Given the description of an element on the screen output the (x, y) to click on. 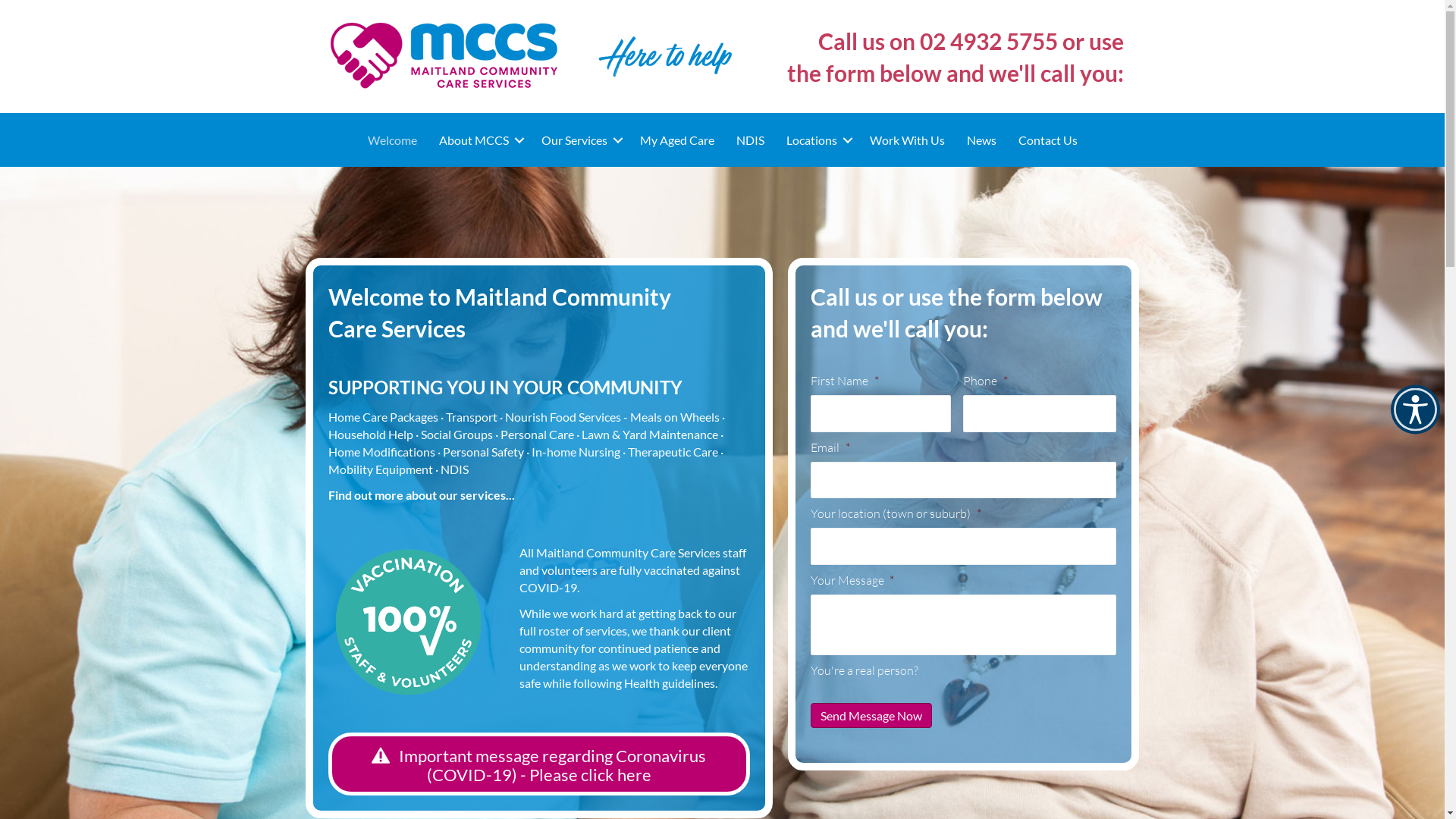
Send Message Now Element type: text (870, 715)
02 4932 5755 Element type: text (988, 40)
Welcome Element type: text (391, 139)
here to help Element type: hover (665, 56)
Our Services Element type: text (579, 139)
Locations Element type: text (816, 139)
Contact Us Element type: text (1047, 139)
My Aged Care Element type: text (676, 139)
Work With Us Element type: text (906, 139)
Vaccination 100% (1) Element type: hover (407, 621)
MCCS Logo Element type: hover (443, 56)
NDIS Element type: text (749, 139)
News Element type: text (980, 139)
Find out more about our services... Element type: text (420, 494)
About MCCS Element type: text (478, 139)
